Given the description of an element on the screen output the (x, y) to click on. 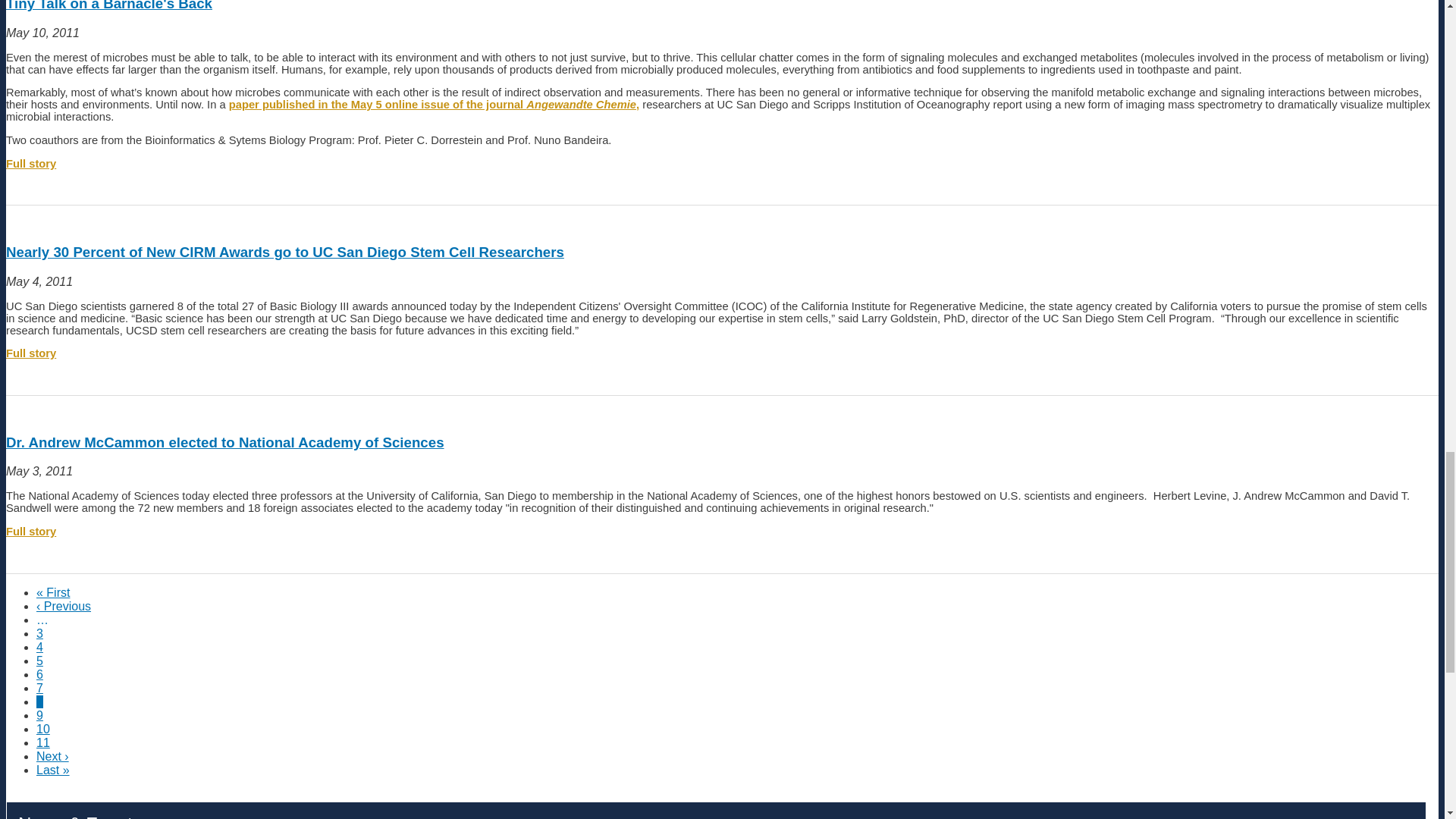
Tiny Talk on a Barnacle's Back (433, 104)
